Given the description of an element on the screen output the (x, y) to click on. 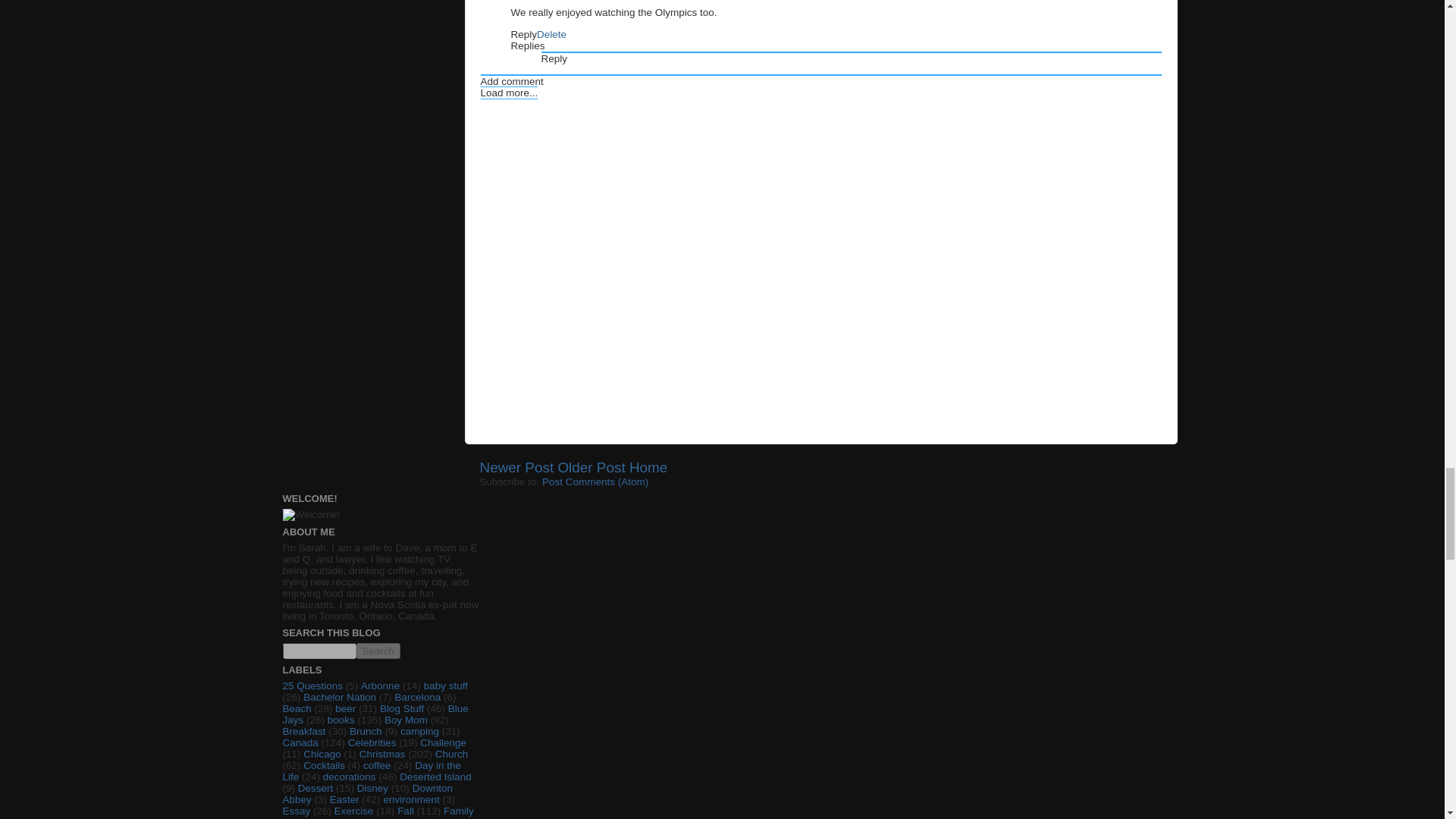
Search (378, 650)
search (378, 650)
Newer Post (516, 467)
Search (378, 650)
search (318, 650)
Older Post (590, 467)
